Given the description of an element on the screen output the (x, y) to click on. 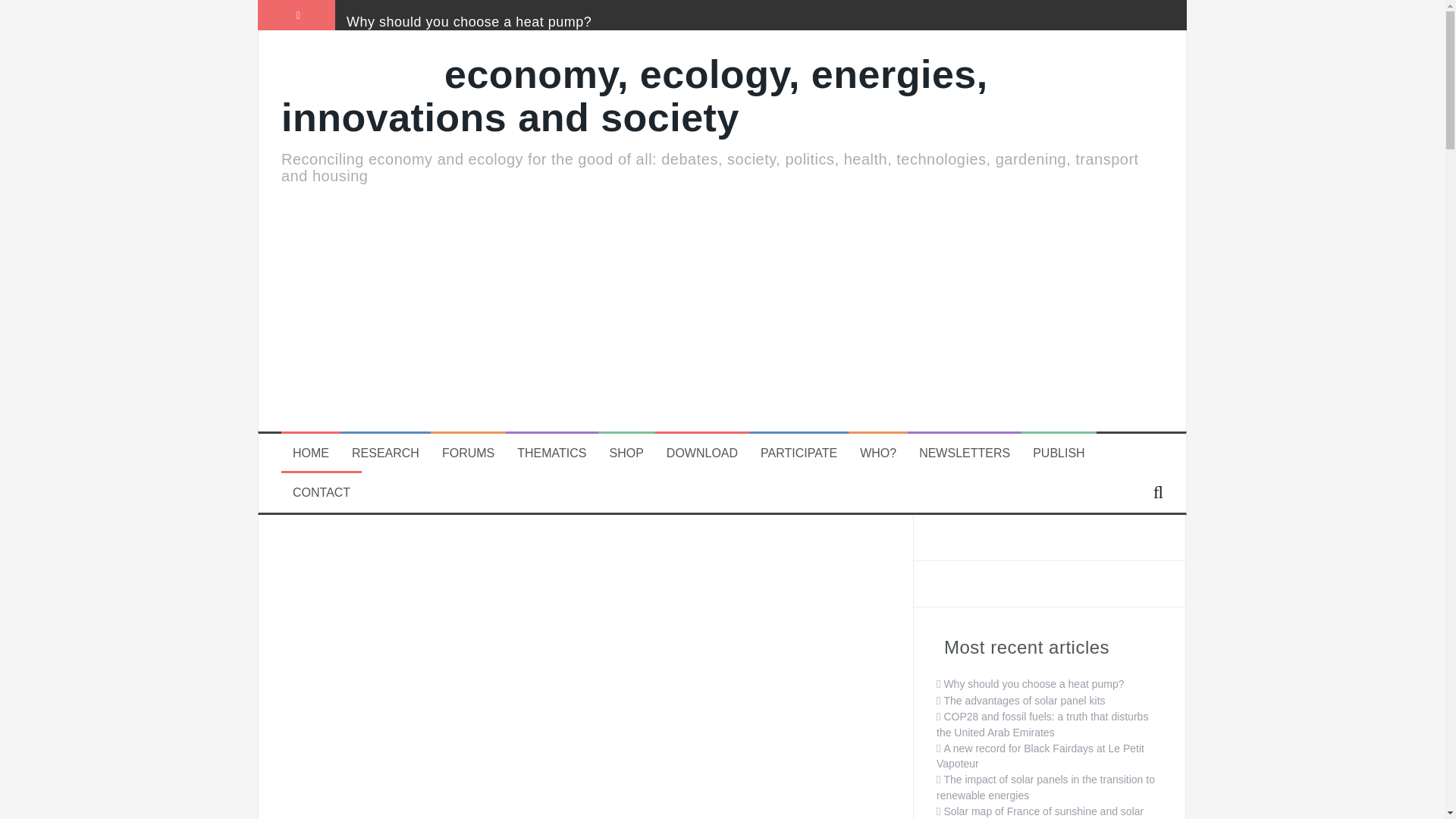
Who is the founder of econology? (878, 453)
Publish an article on the site (1058, 453)
HOME (310, 453)
economy, ecology, energies, innovations and society (634, 95)
Help develop the site (798, 453)
FORUMS (468, 453)
Home page (310, 453)
RESEARCH (385, 453)
Why should you choose a heat pump? (468, 21)
